Given the description of an element on the screen output the (x, y) to click on. 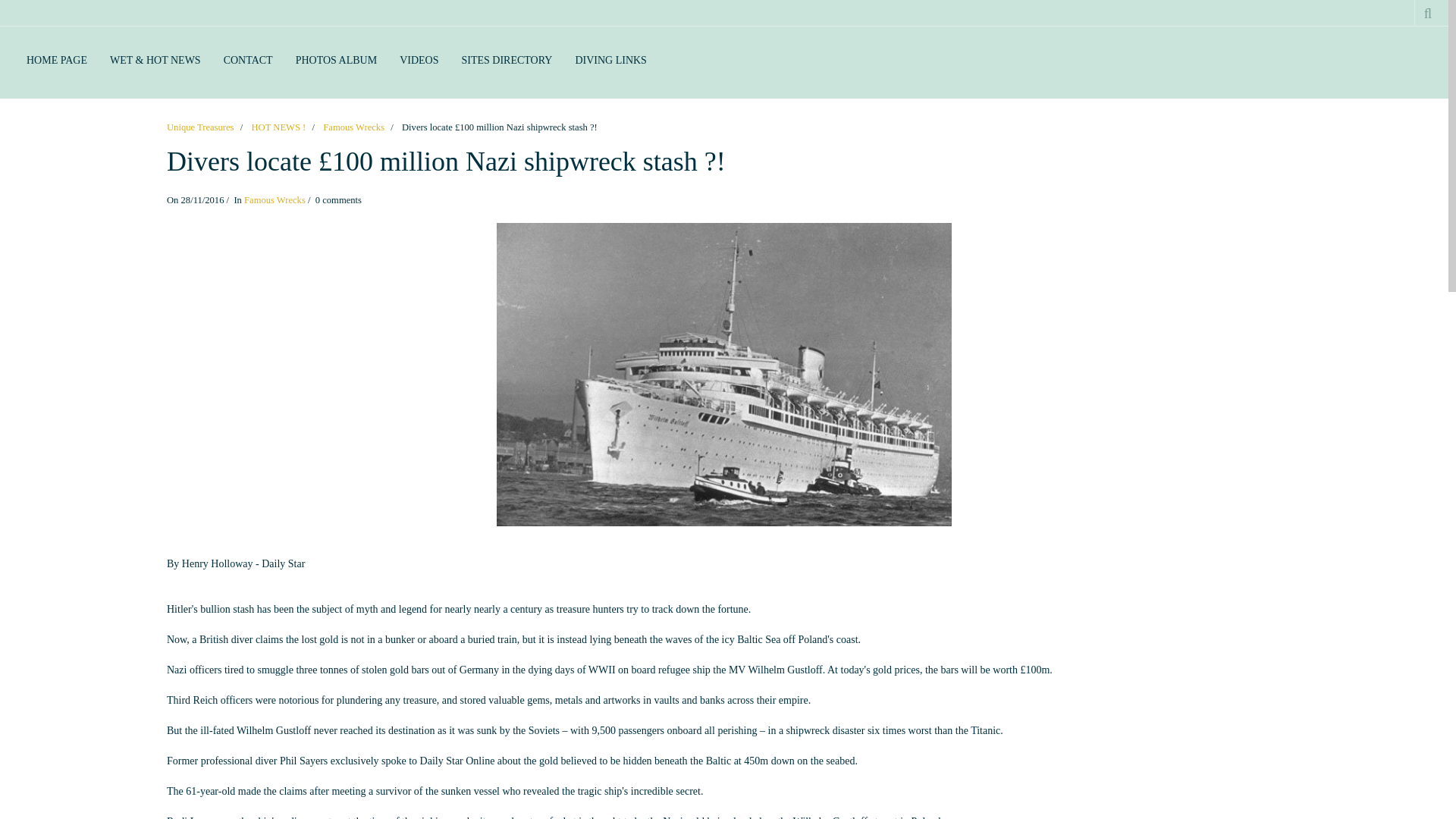
Unique Treasures (200, 127)
PHOTOS ALBUM (335, 60)
SITES DIRECTORY (506, 60)
DIVING LINKS (610, 60)
VIDEOS (418, 60)
CONTACT (247, 60)
HOT NEWS ! (277, 127)
Famous Wrecks (274, 199)
Famous Wrecks (353, 127)
HOME PAGE (56, 60)
